Given the description of an element on the screen output the (x, y) to click on. 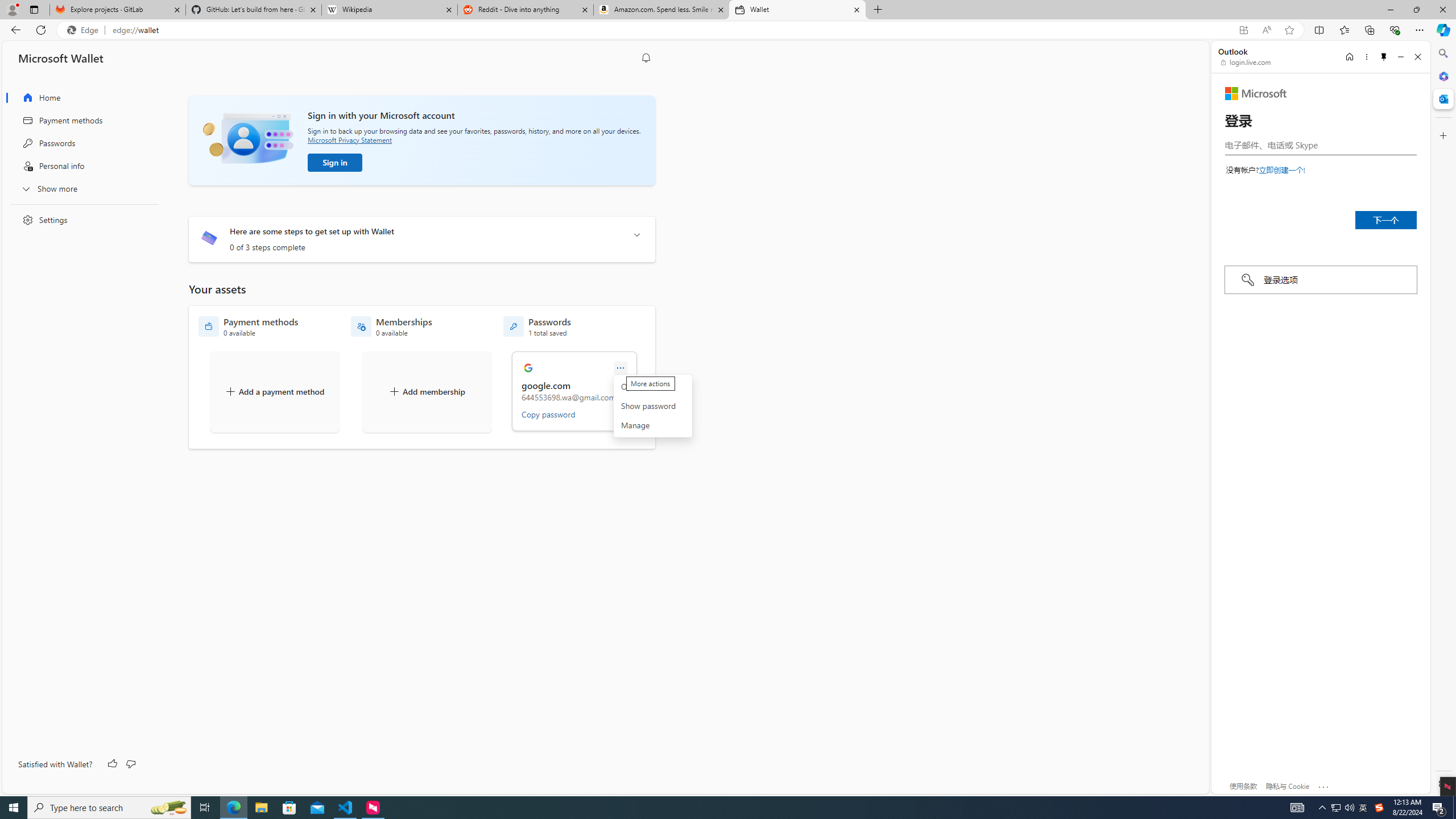
Edge (84, 29)
Amazon.com. Spend less. Smile more. (660, 9)
More actions (619, 368)
Manage (651, 425)
Notification (646, 58)
